Given the description of an element on the screen output the (x, y) to click on. 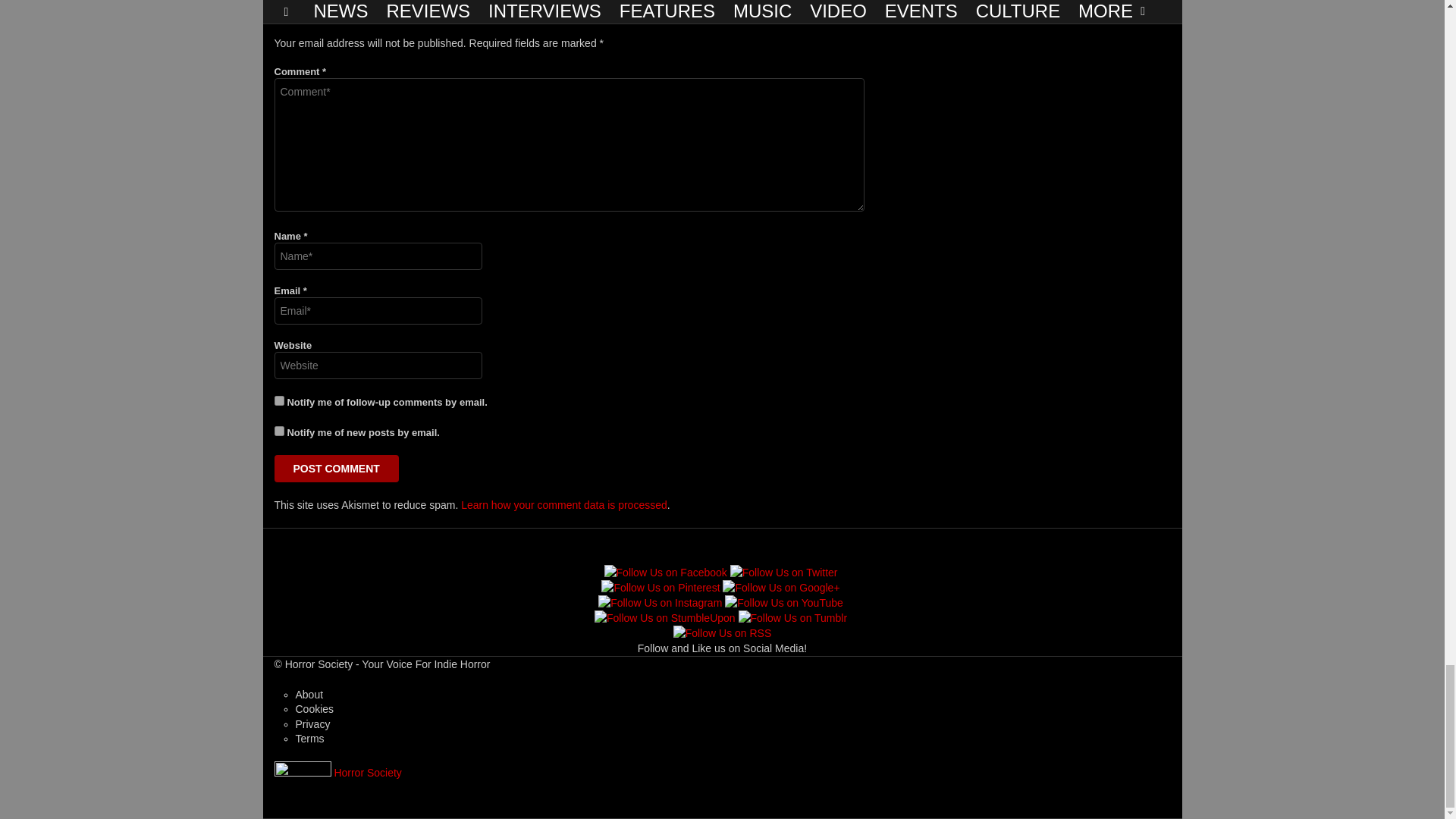
Post Comment (336, 468)
subscribe (279, 400)
subscribe (279, 430)
